Given the description of an element on the screen output the (x, y) to click on. 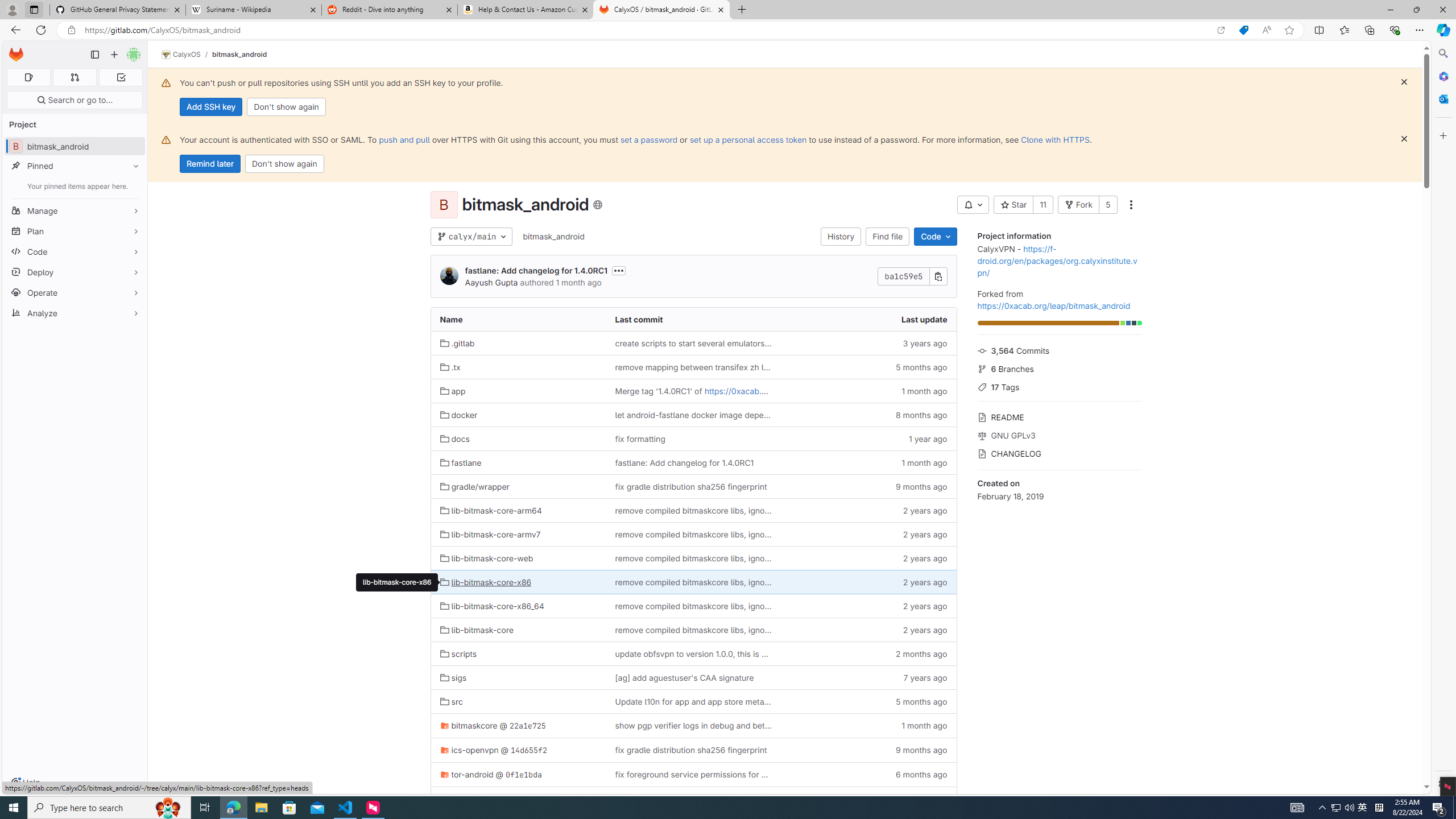
ics-openvpn (469, 749)
lib-bitmask-core-armv7 (489, 534)
lib-bitmask-core-x86_64 (517, 605)
lib-bitmask-core (476, 629)
 Star (1012, 204)
lib-bitmask-core (517, 629)
gradle/wrapper (474, 486)
2 months ago (868, 653)
Customize (1442, 135)
show pgp verifier logs in debug and beta builds (693, 725)
Primary navigation sidebar (94, 54)
Add SSH key (211, 106)
Class: tree-item (693, 798)
docker (517, 414)
